Given the description of an element on the screen output the (x, y) to click on. 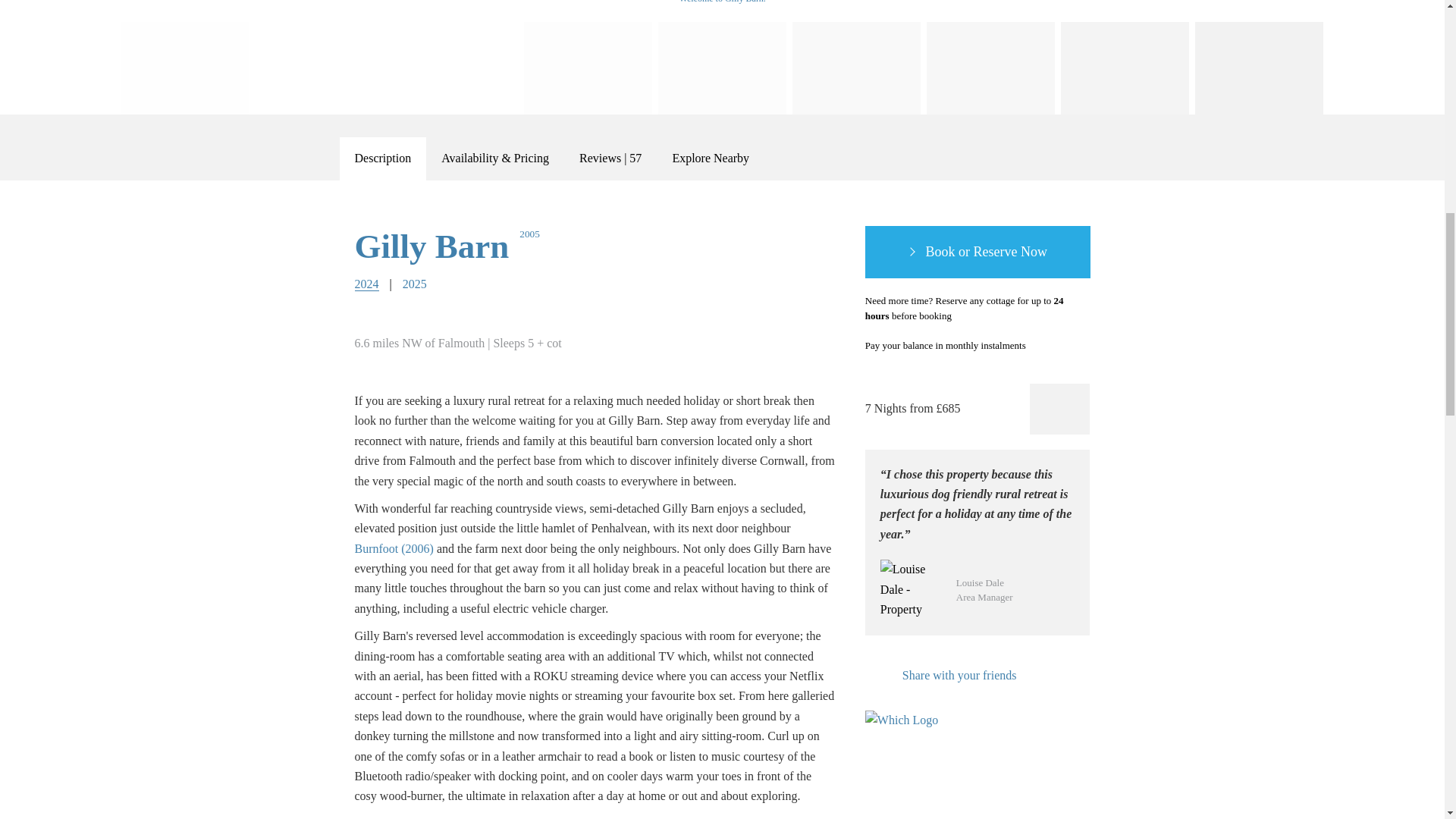
Description (382, 158)
Burnfoot (394, 548)
2024 (366, 284)
Book or Reserve (977, 252)
Classic Cottages is a Which? Recommended Provider (908, 738)
2025 (414, 283)
Share with your friends (940, 675)
Part Payment Information (1042, 345)
Explore Nearby (710, 158)
